Given the description of an element on the screen output the (x, y) to click on. 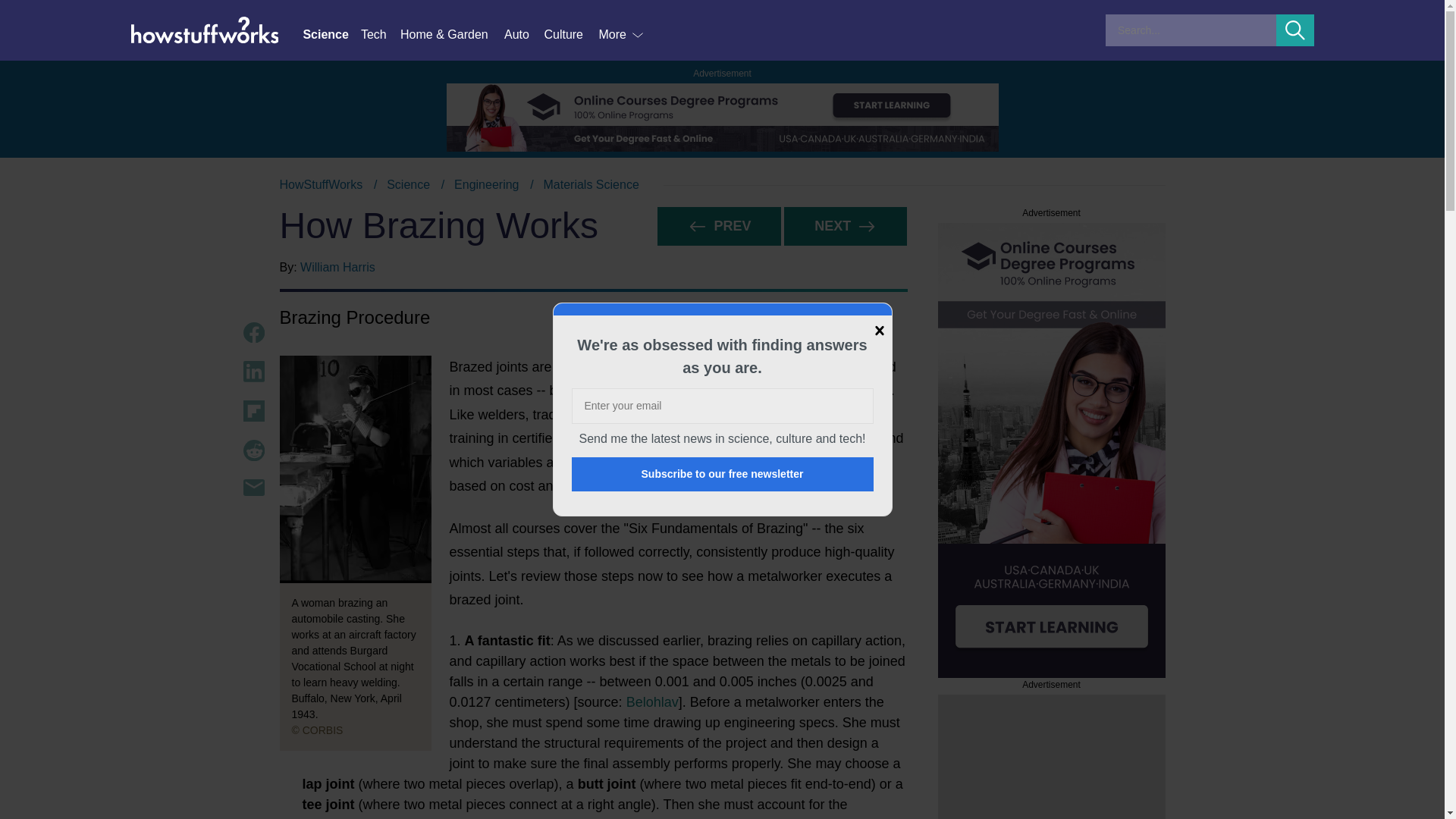
Share Content via Email (253, 487)
Auto (523, 34)
HowStuffWorks (320, 184)
Share Content on Facebook (253, 332)
Share Content on LinkedIn (253, 371)
Share Content on Reddit (253, 450)
More (621, 34)
Tech (721, 185)
Submit Search (380, 34)
Share Content on Flipboard (1295, 29)
Science (253, 410)
Subscribe to our free newsletter (330, 34)
Culture (722, 474)
